Given the description of an element on the screen output the (x, y) to click on. 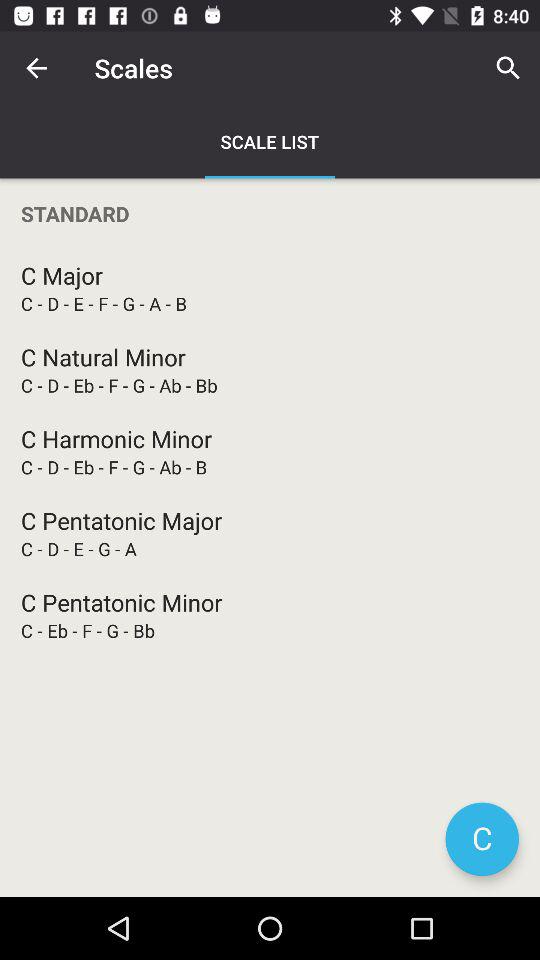
open standard item (270, 213)
